Given the description of an element on the screen output the (x, y) to click on. 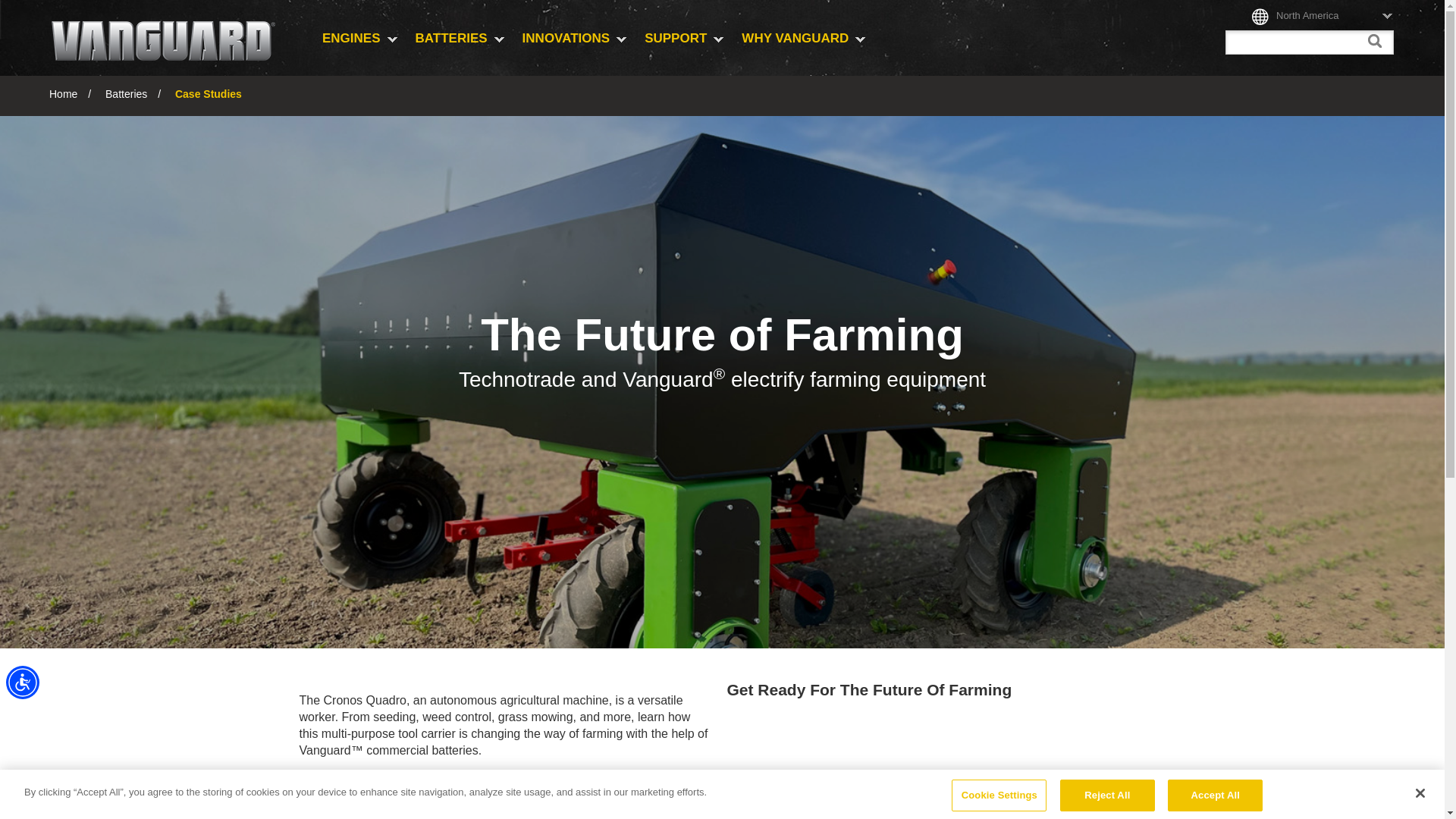
INNOVATIONS (574, 42)
ENGINES (359, 42)
Accessibility Menu (22, 682)
WHY VANGUARD (803, 42)
SUPPORT (683, 42)
Vanguard Commercial Power (162, 40)
Form 0 (940, 768)
BATTERIES (459, 42)
